Given the description of an element on the screen output the (x, y) to click on. 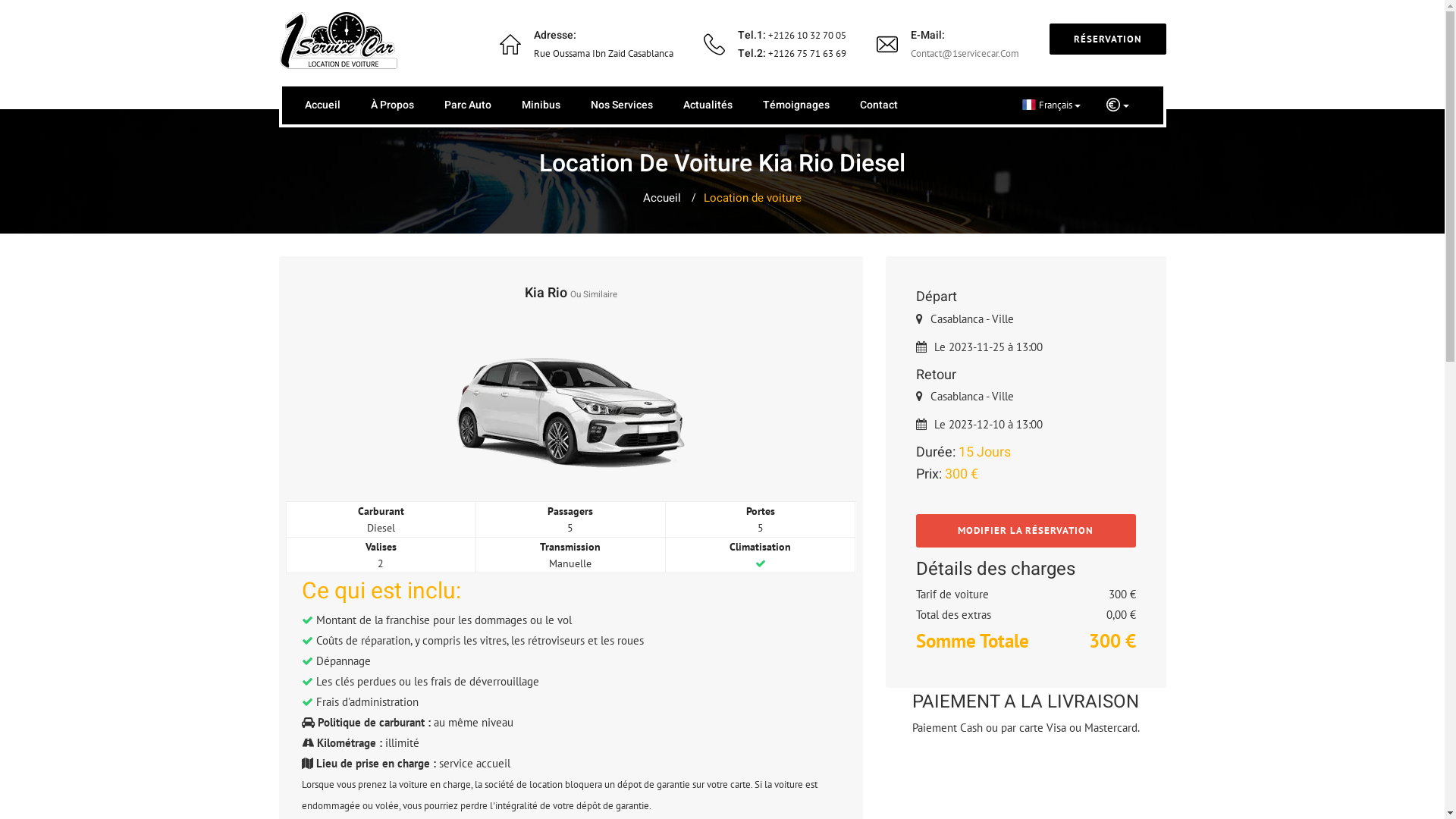
Accueil Element type: text (322, 105)
Accueil Element type: text (661, 197)
Nos Services Element type: text (620, 105)
EUR Element type: hover (1117, 105)
Minibus Element type: text (540, 105)
Contact@1servicecar.Com Element type: text (964, 53)
1ServiceCar Element type: hover (339, 41)
Contact Element type: text (878, 105)
Parc Auto Element type: text (467, 105)
